Given the description of an element on the screen output the (x, y) to click on. 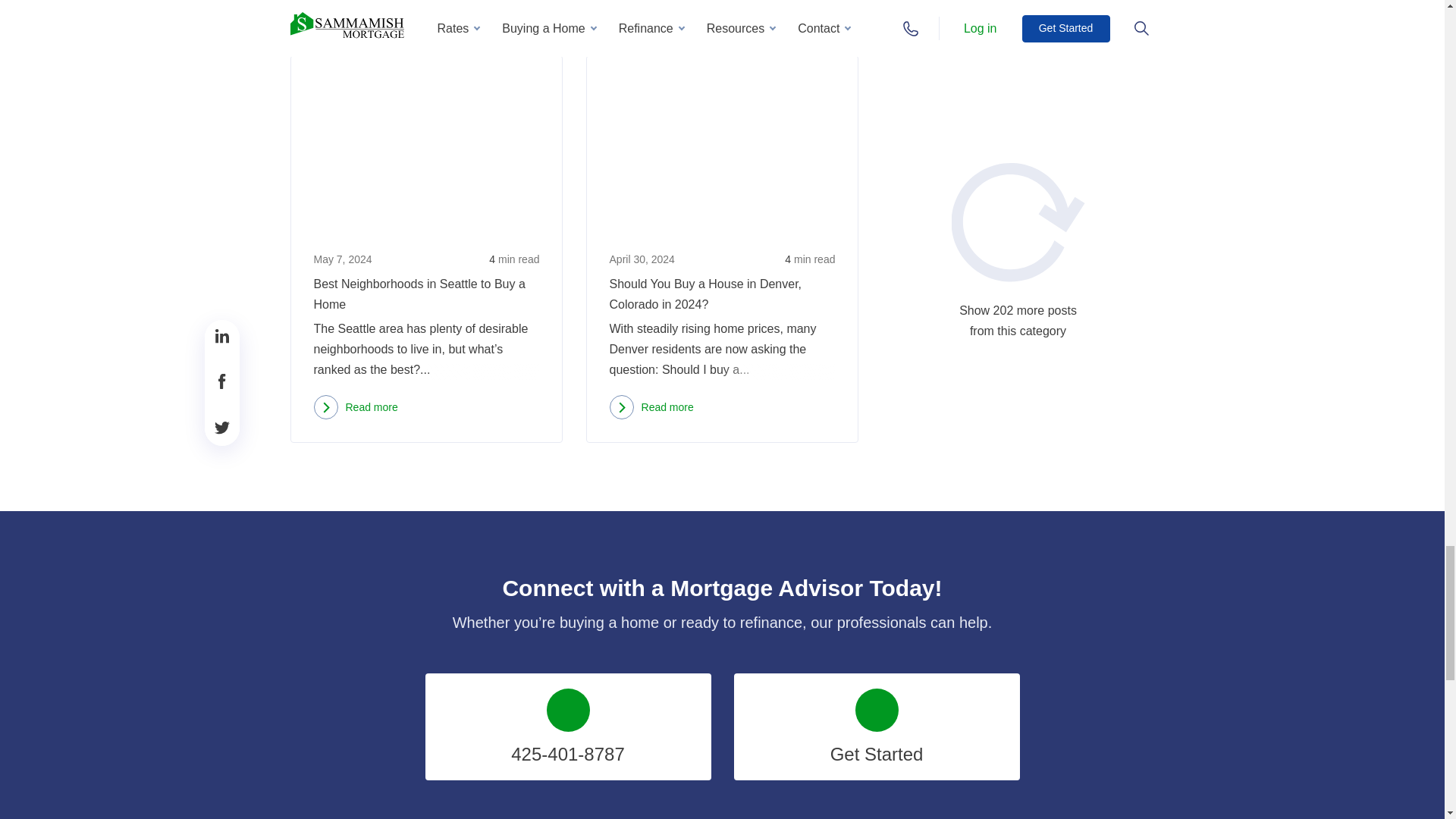
Best Neighborhoods in Seattle to Buy a Home (426, 139)
Should You Buy a House in Denver, Colorado in 2024? (722, 139)
